Given the description of an element on the screen output the (x, y) to click on. 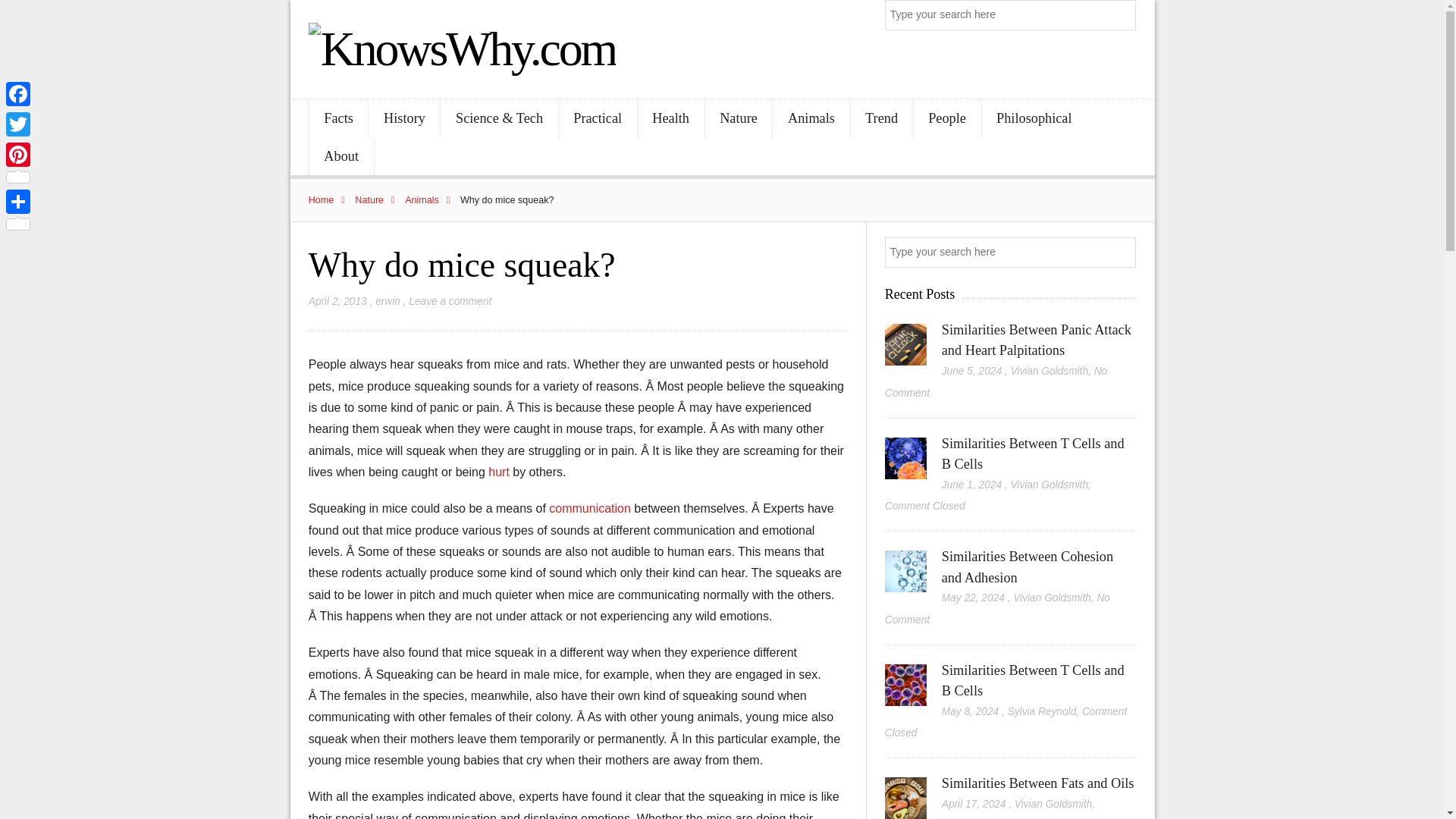
Leave a comment (450, 301)
Home (330, 199)
Animals (430, 199)
About (341, 156)
erwin (387, 301)
Facts (338, 118)
Posts by erwin (387, 301)
Search (1123, 15)
Philosophical (1033, 118)
hurt (499, 472)
